Given the description of an element on the screen output the (x, y) to click on. 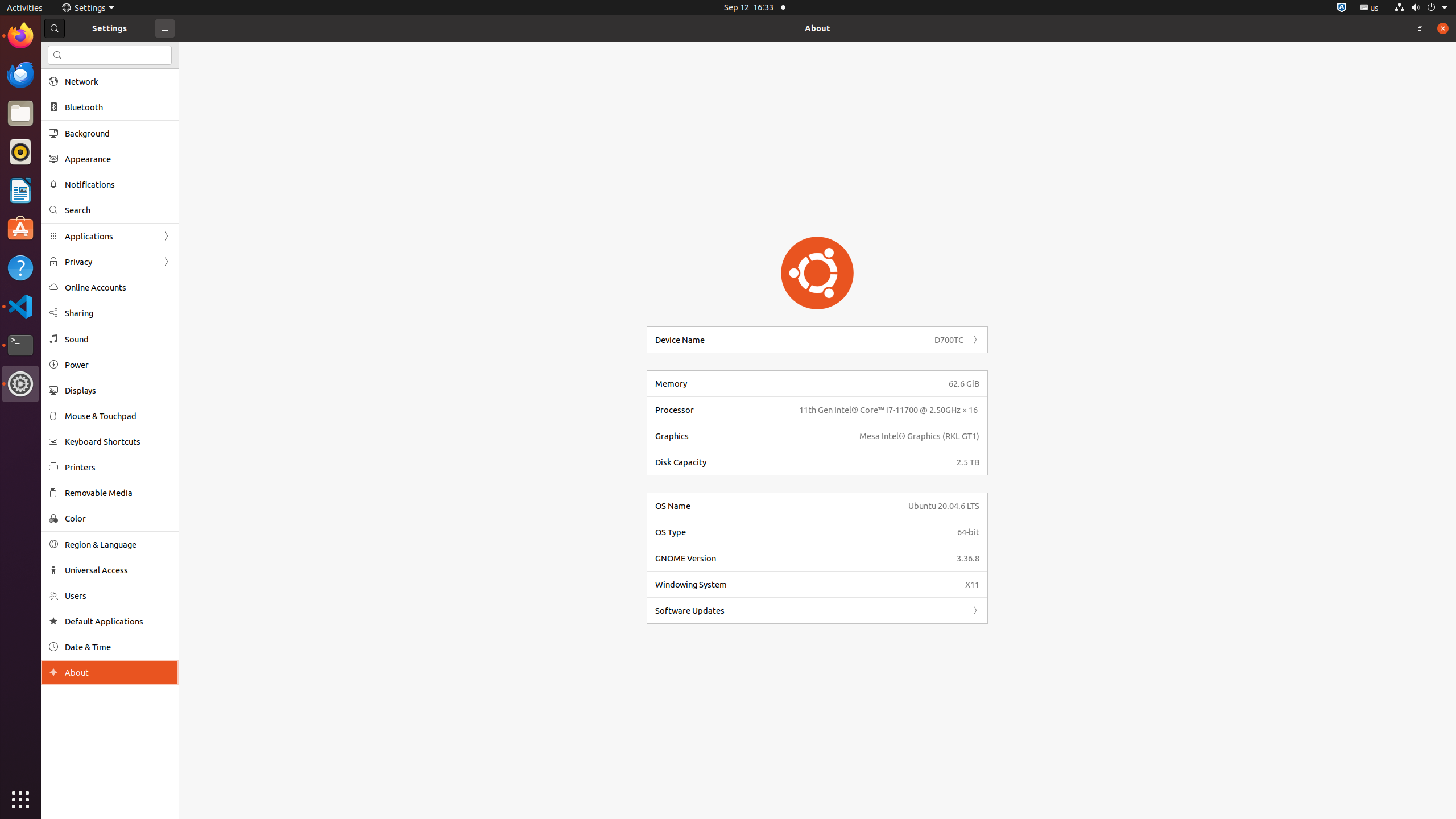
D700TC Element type: label (948, 339)
Search Element type: label (117, 209)
OS Name Element type: label (778, 505)
Default Applications Element type: label (117, 621)
